Given the description of an element on the screen output the (x, y) to click on. 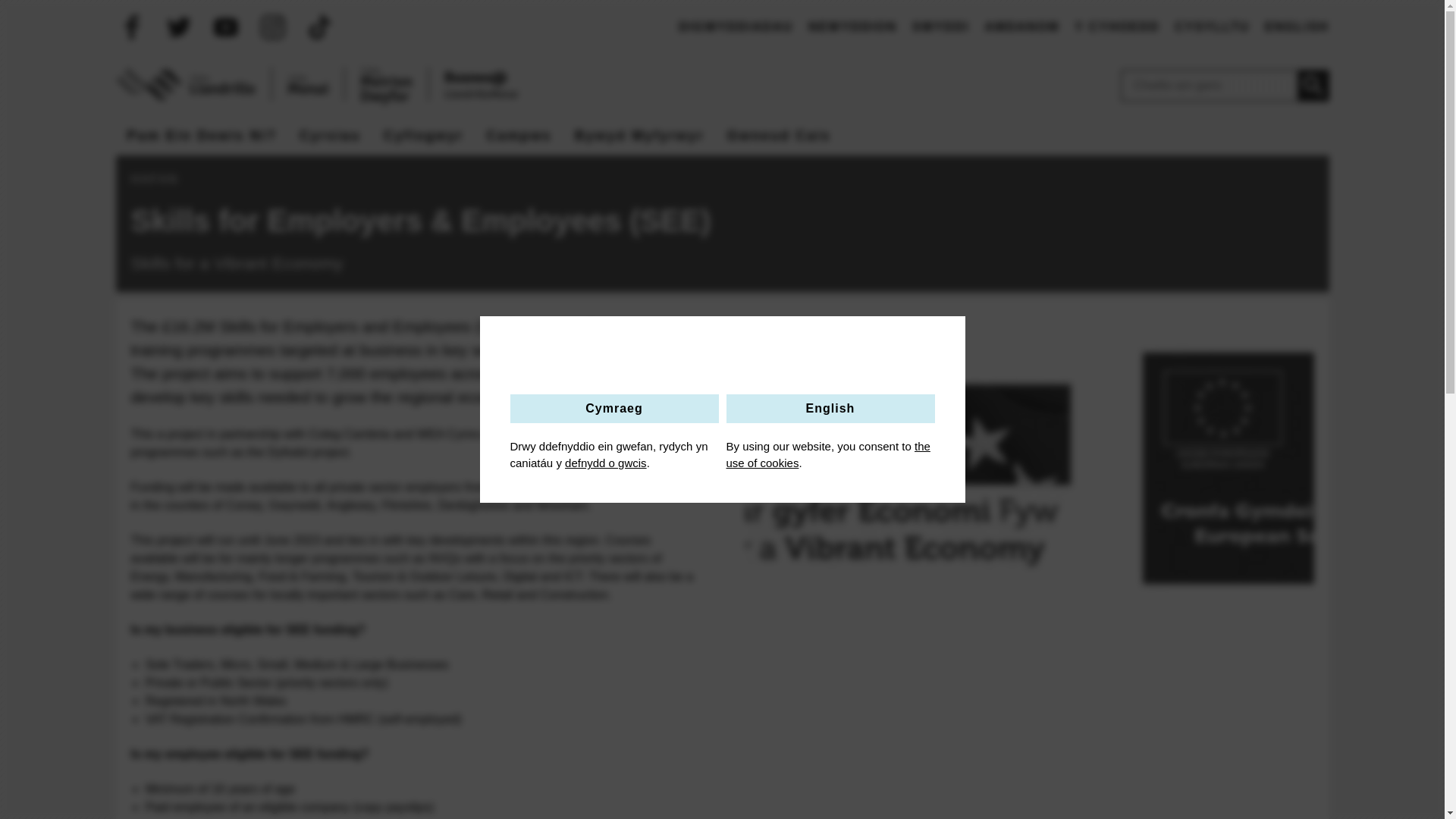
Bywyd Myfyrwyr (639, 136)
Gwneud Cais (779, 136)
English (830, 408)
Cyflogwyr (424, 136)
ENGLISH (1297, 26)
Cyrsiau (330, 136)
Cymraeg (613, 408)
AMDANOM (1021, 26)
Pam Ein Dewis Ni? (201, 136)
the use of cookies (828, 454)
SWYDDI (940, 26)
Campws (519, 136)
CYSYLLTU (1211, 26)
Y CYHOEDD (1116, 26)
NEWYDDION (852, 26)
